Given the description of an element on the screen output the (x, y) to click on. 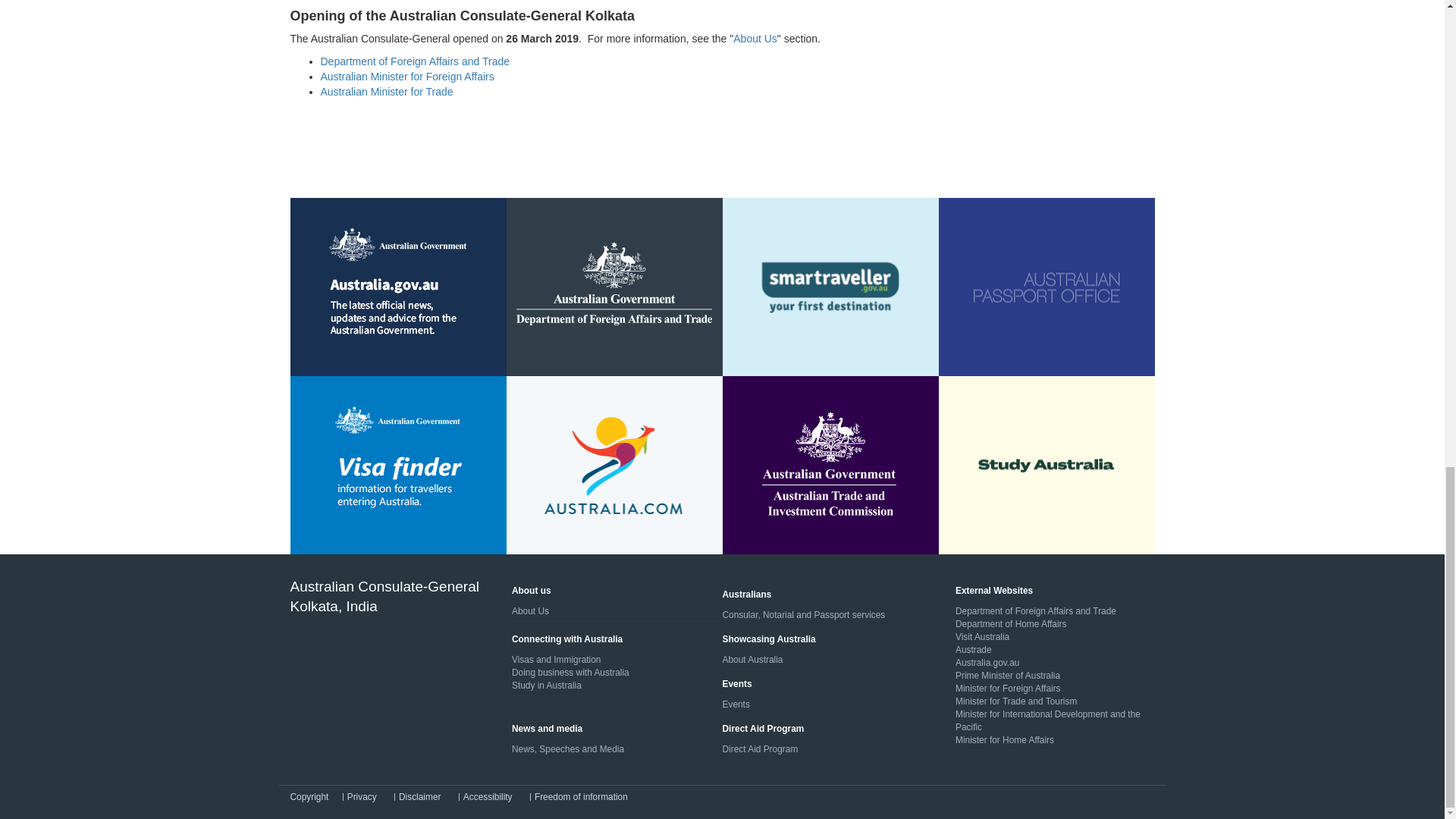
Department of Foreign Affairs and Trade (414, 61)
About Us (755, 38)
Australian Minister for Foreign Affairs (406, 76)
Australian Minister for Trade (386, 91)
